Given the description of an element on the screen output the (x, y) to click on. 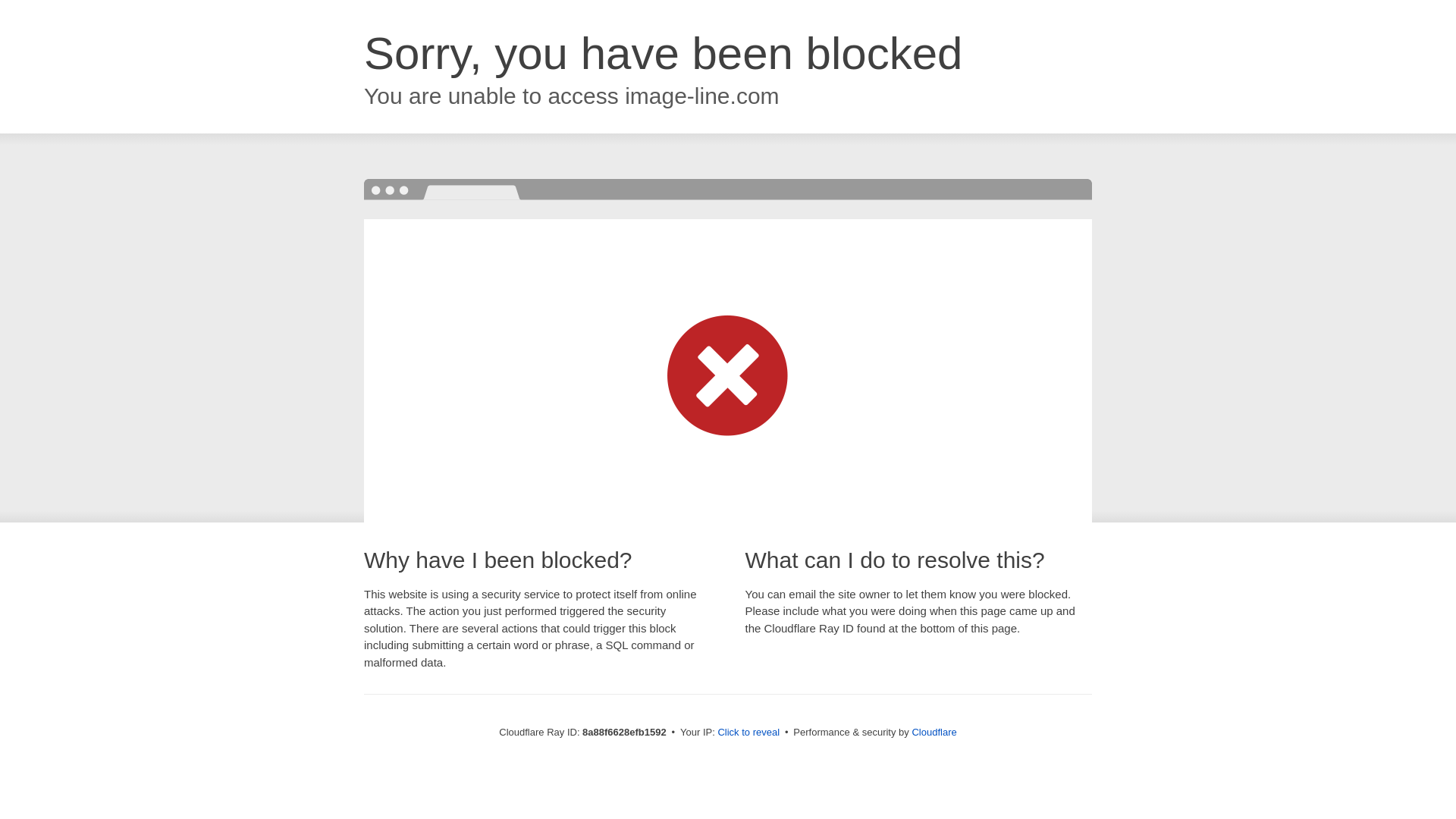
Cloudflare (933, 731)
Click to reveal (747, 732)
